Given the description of an element on the screen output the (x, y) to click on. 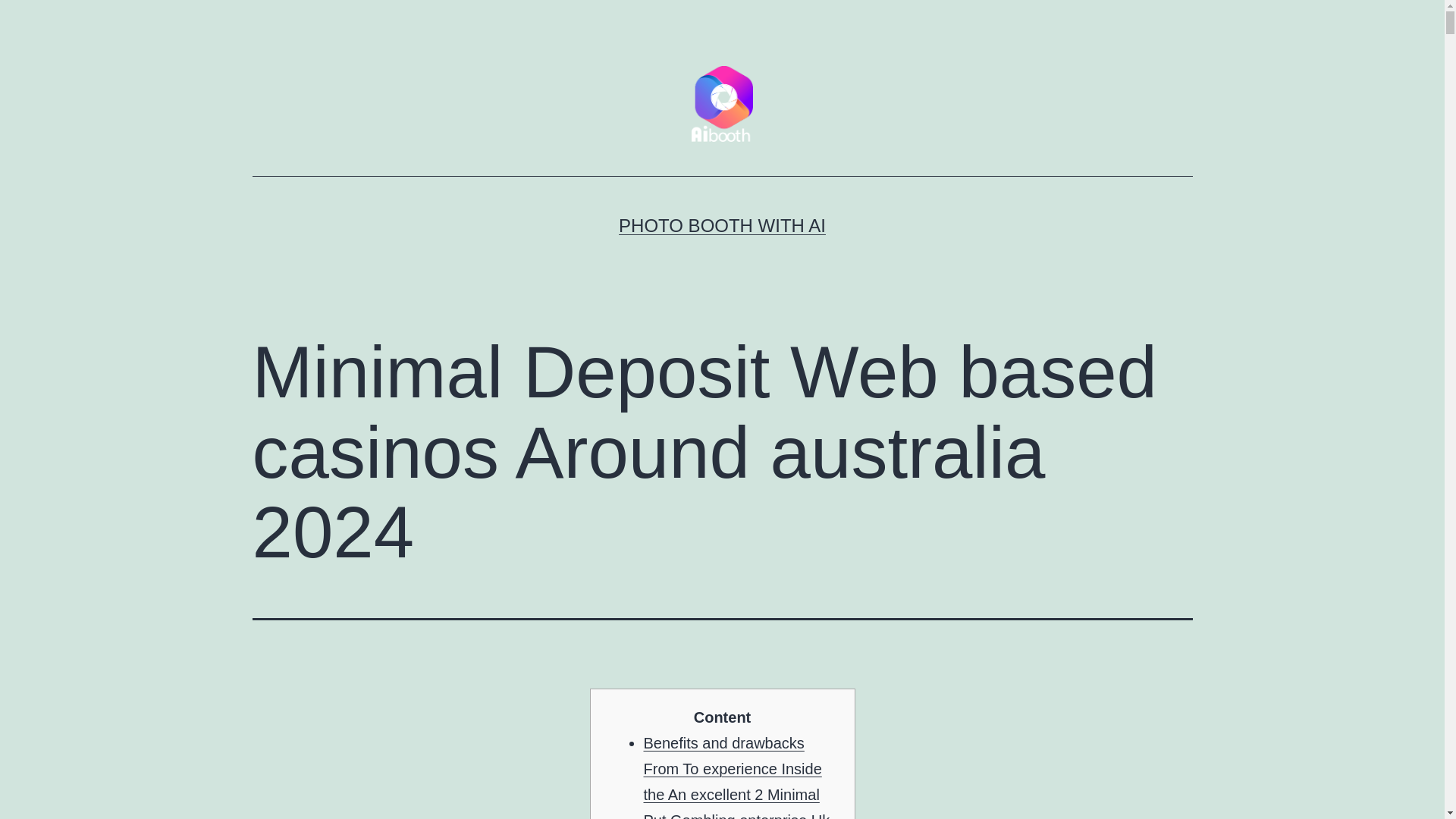
PHOTO BOOTH WITH AI (721, 225)
